Given the description of an element on the screen output the (x, y) to click on. 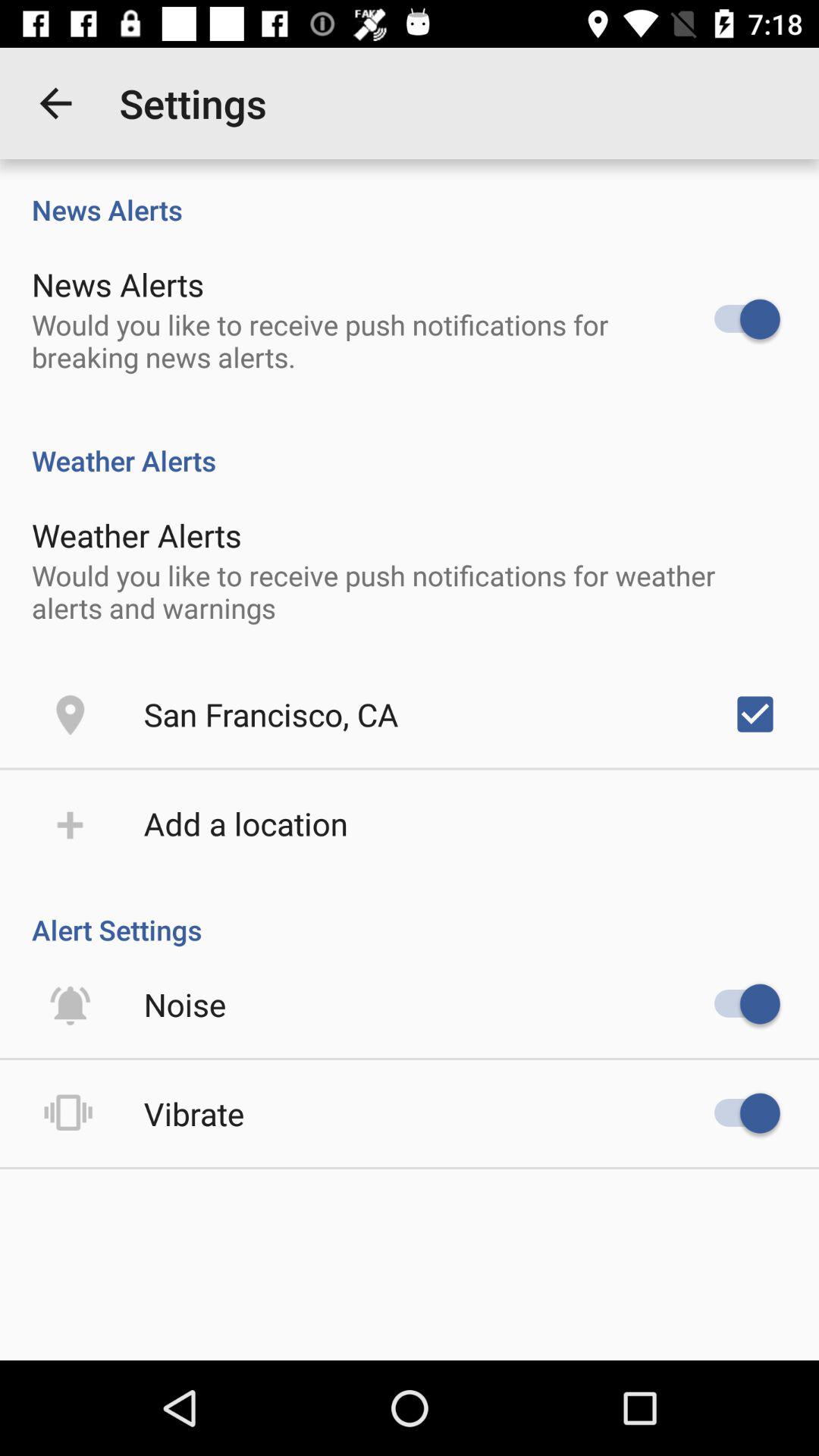
click the vibrate (193, 1113)
